Given the description of an element on the screen output the (x, y) to click on. 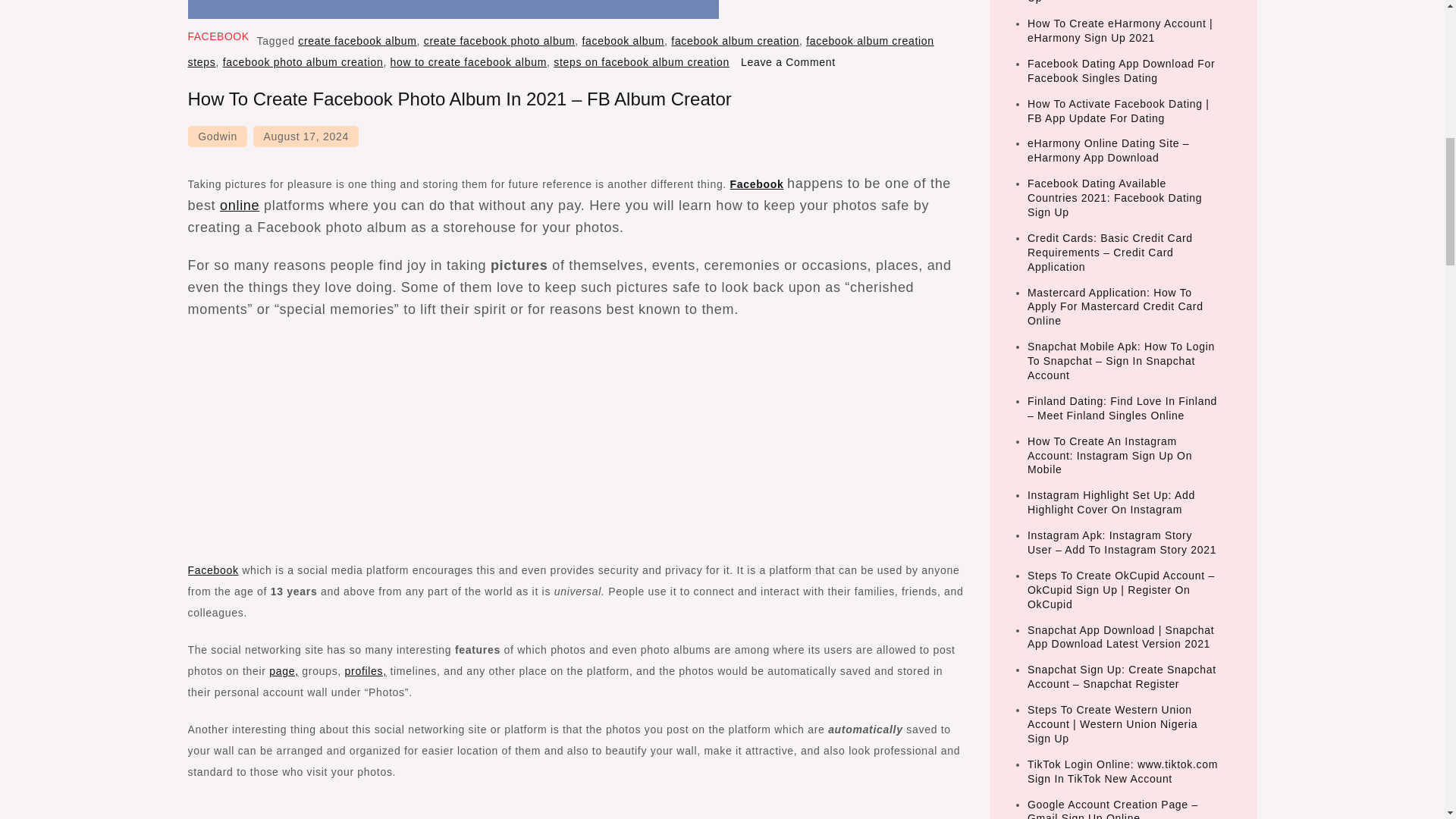
Godwin (217, 136)
online (239, 205)
facebook album creation steps (560, 51)
create facebook album (357, 40)
Facebook (757, 184)
how to create facebook album (468, 61)
profiles, (366, 671)
facebook album creation (735, 40)
create facebook photo album (499, 40)
facebook album (621, 40)
